Given the description of an element on the screen output the (x, y) to click on. 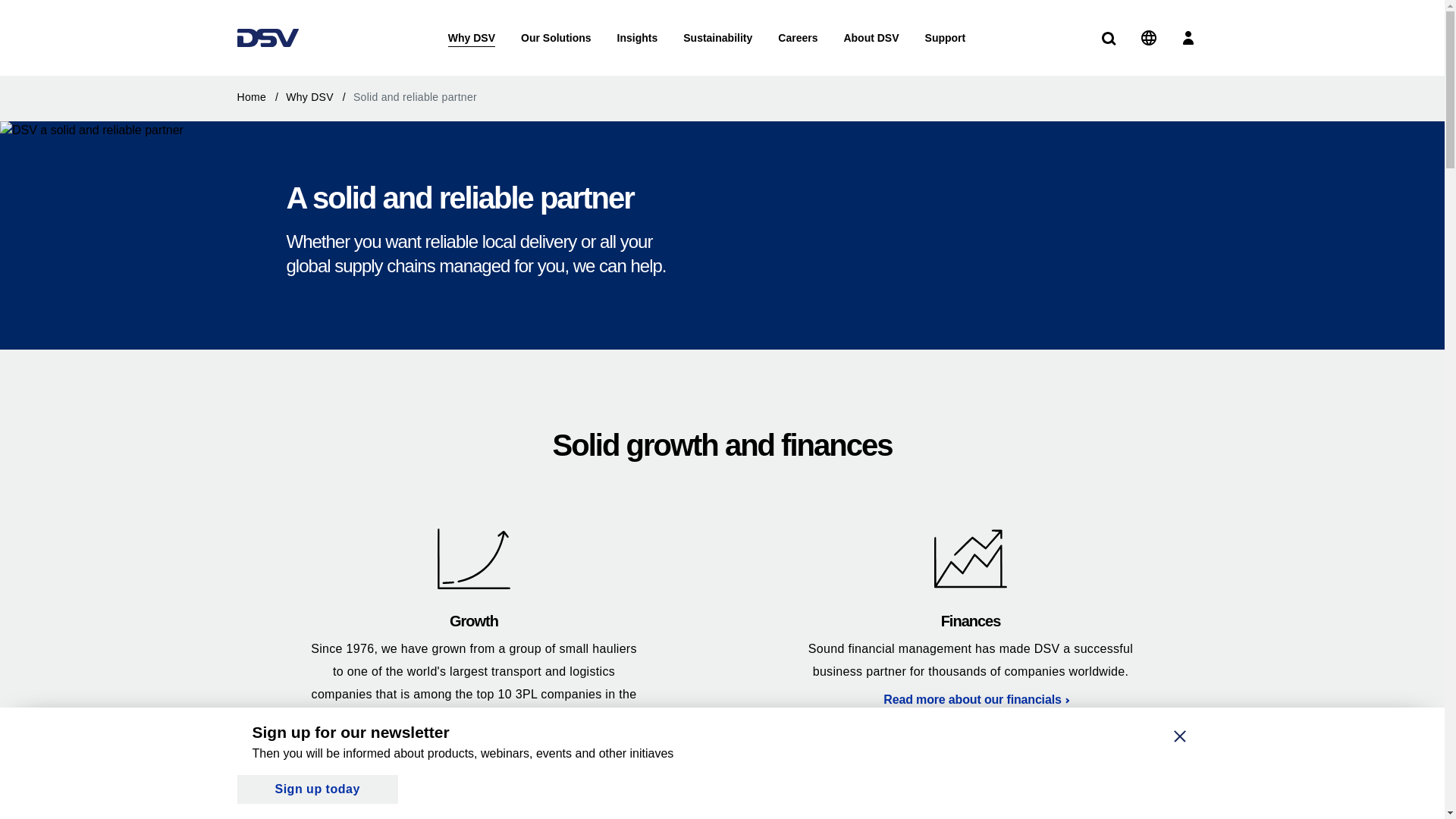
Home (259, 97)
Careers (797, 38)
Insights (637, 38)
Why DSV (471, 38)
Our Solutions (556, 38)
Sustainability (717, 38)
Why DSV (318, 97)
